Given the description of an element on the screen output the (x, y) to click on. 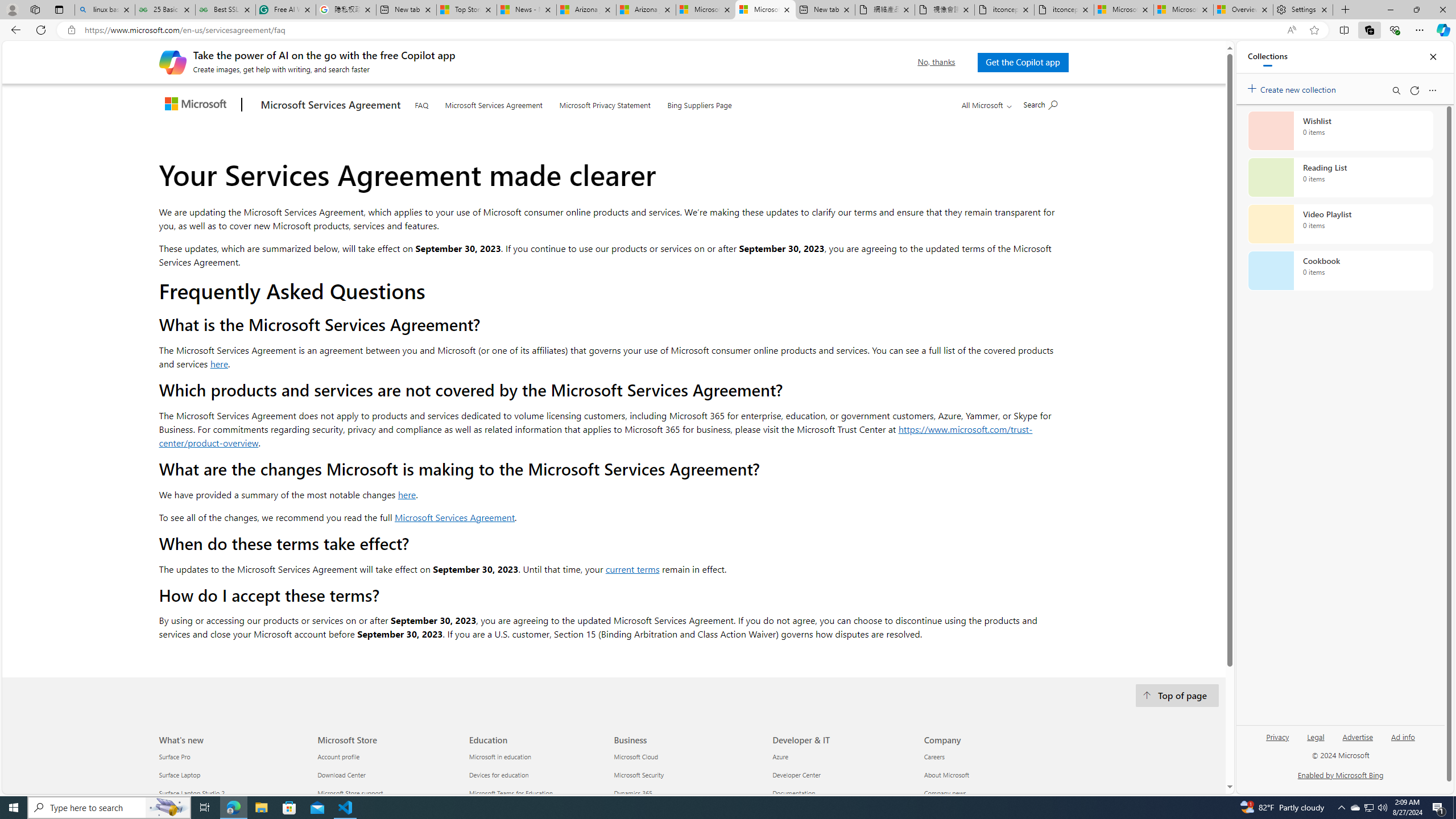
Devices for education Education (498, 774)
Microsoft Store support (386, 793)
Surface Laptop What's new (179, 774)
Company news (992, 793)
Search Microsoft.com (1039, 103)
Create images, get help with writing, and search faster (172, 62)
itconcepthk.com/projector_solutions.mp4 (1064, 9)
FAQ (421, 103)
